Given the description of an element on the screen output the (x, y) to click on. 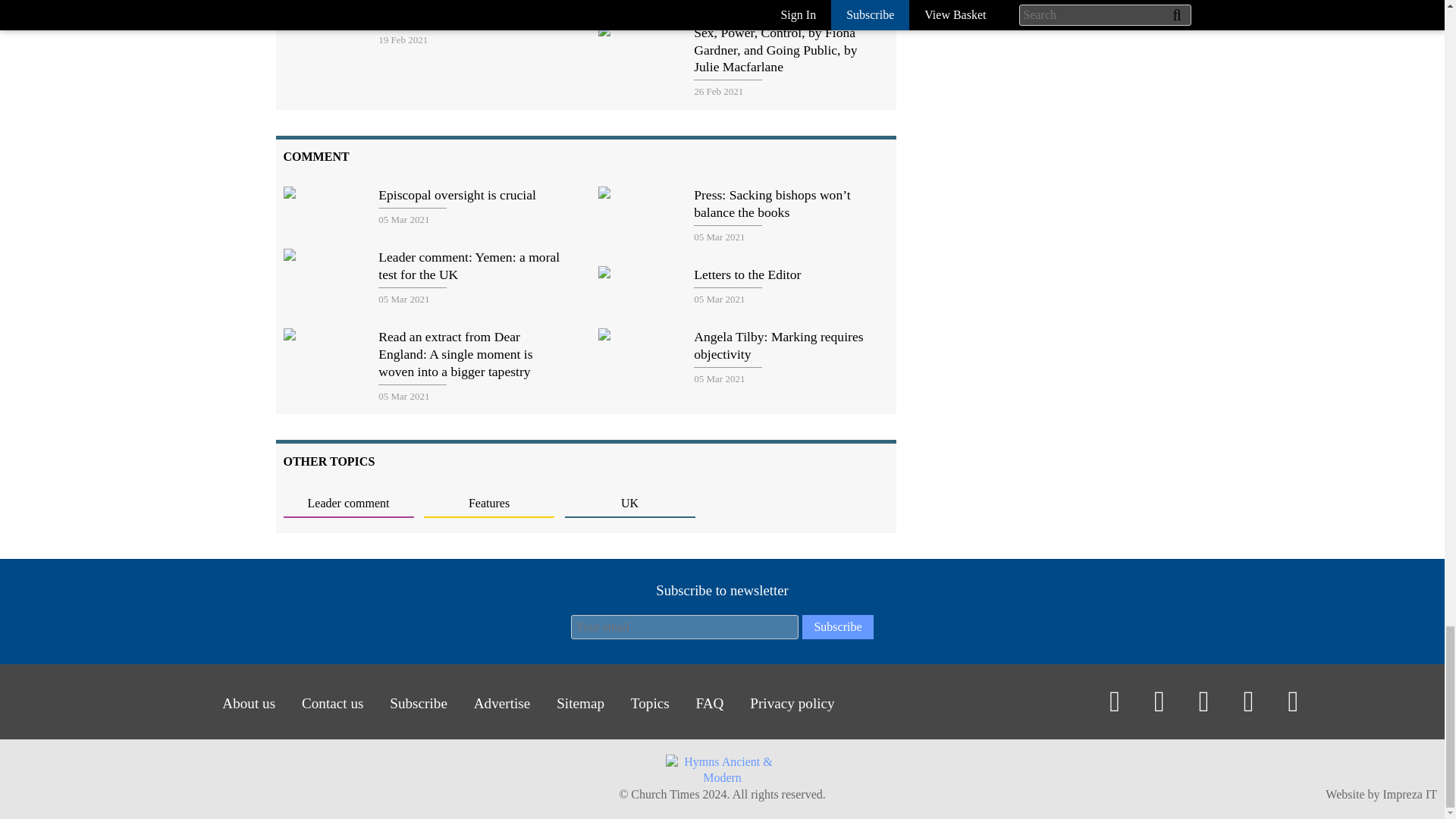
Subscribe (837, 627)
